Given the description of an element on the screen output the (x, y) to click on. 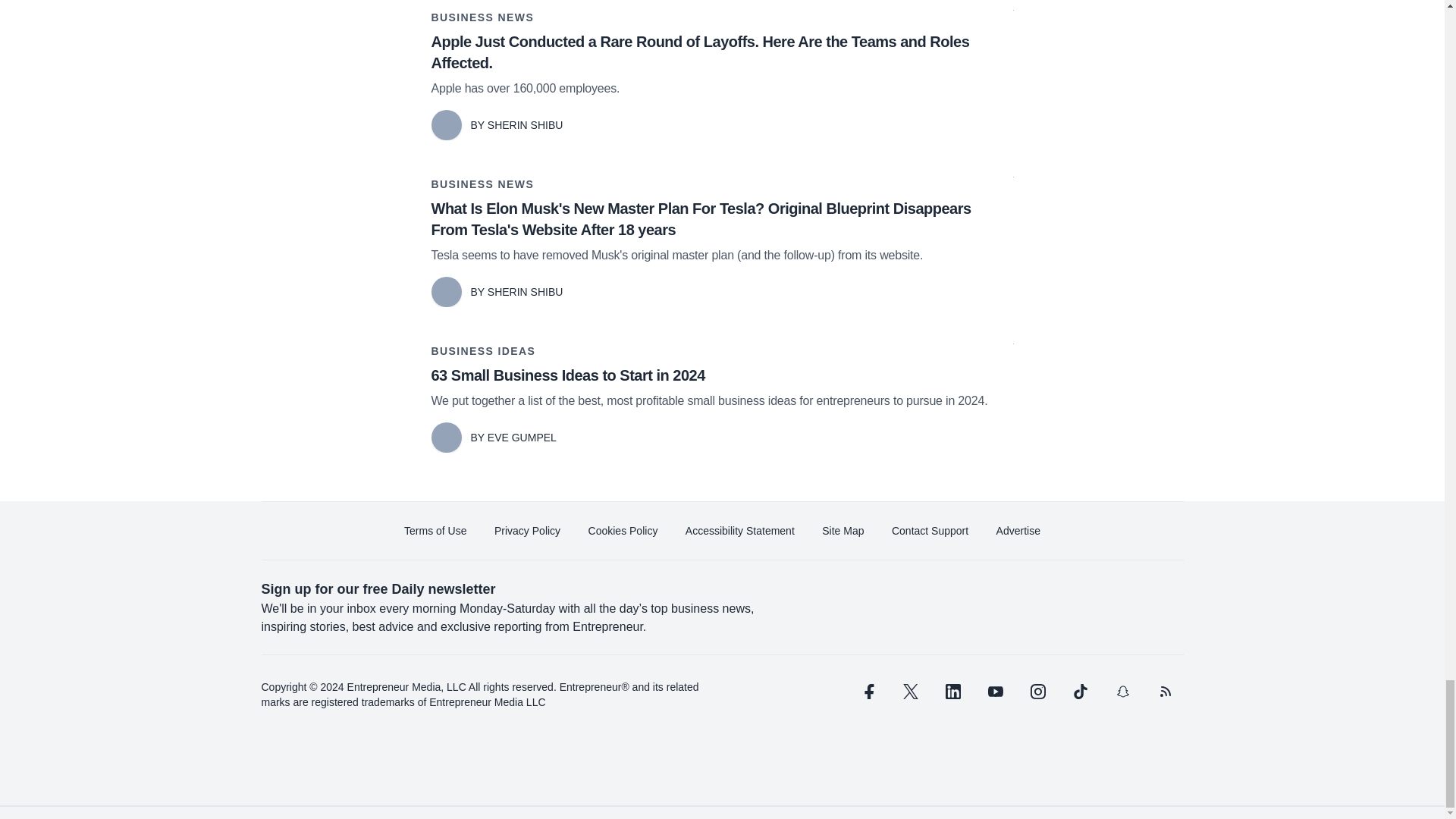
twitter (909, 691)
linkedin (952, 691)
youtube (994, 691)
snapchat (1121, 691)
tiktok (1079, 691)
facebook (866, 691)
instagram (1037, 691)
